Given the description of an element on the screen output the (x, y) to click on. 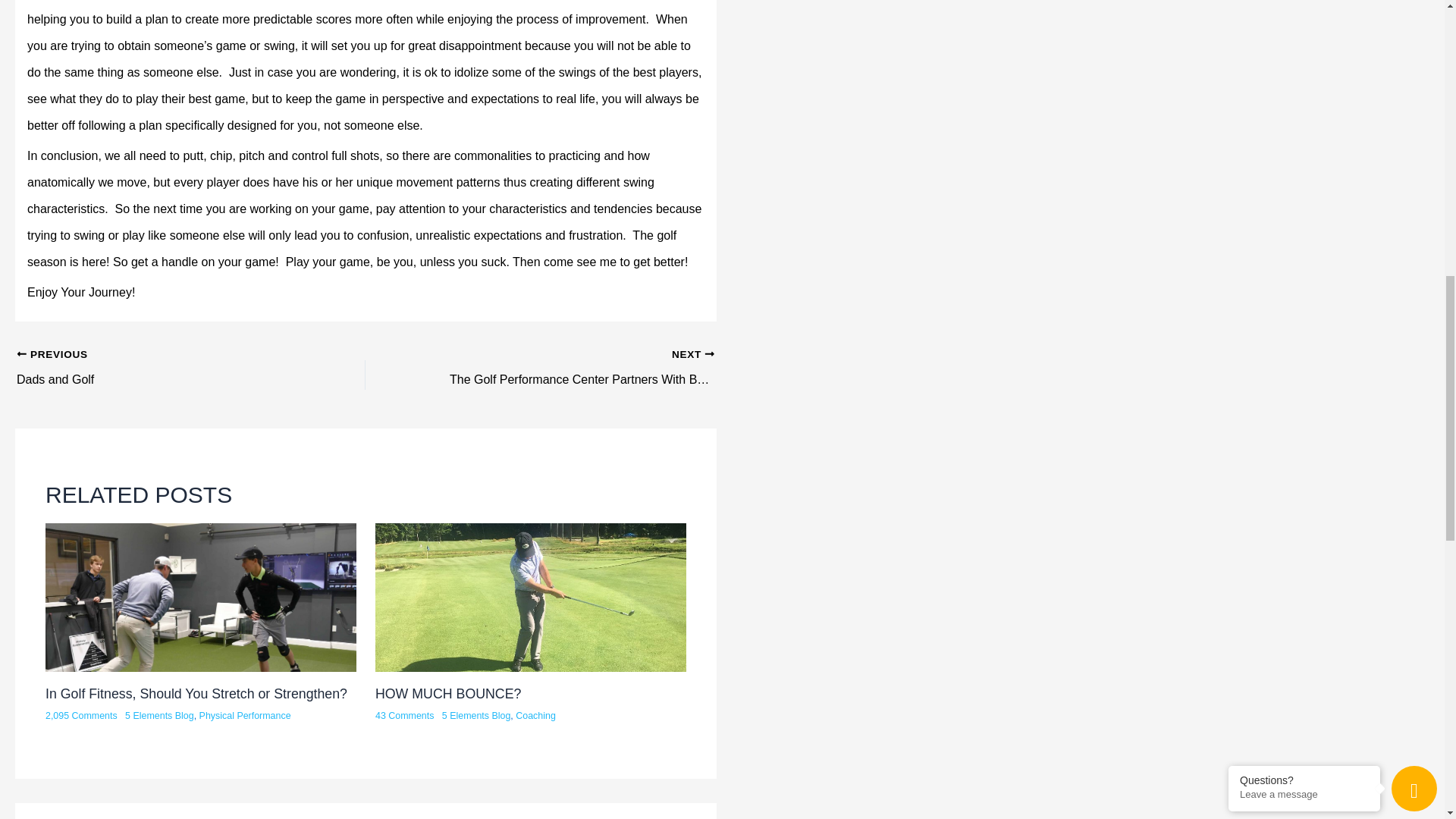
Dads and Golf (156, 372)
